Given the description of an element on the screen output the (x, y) to click on. 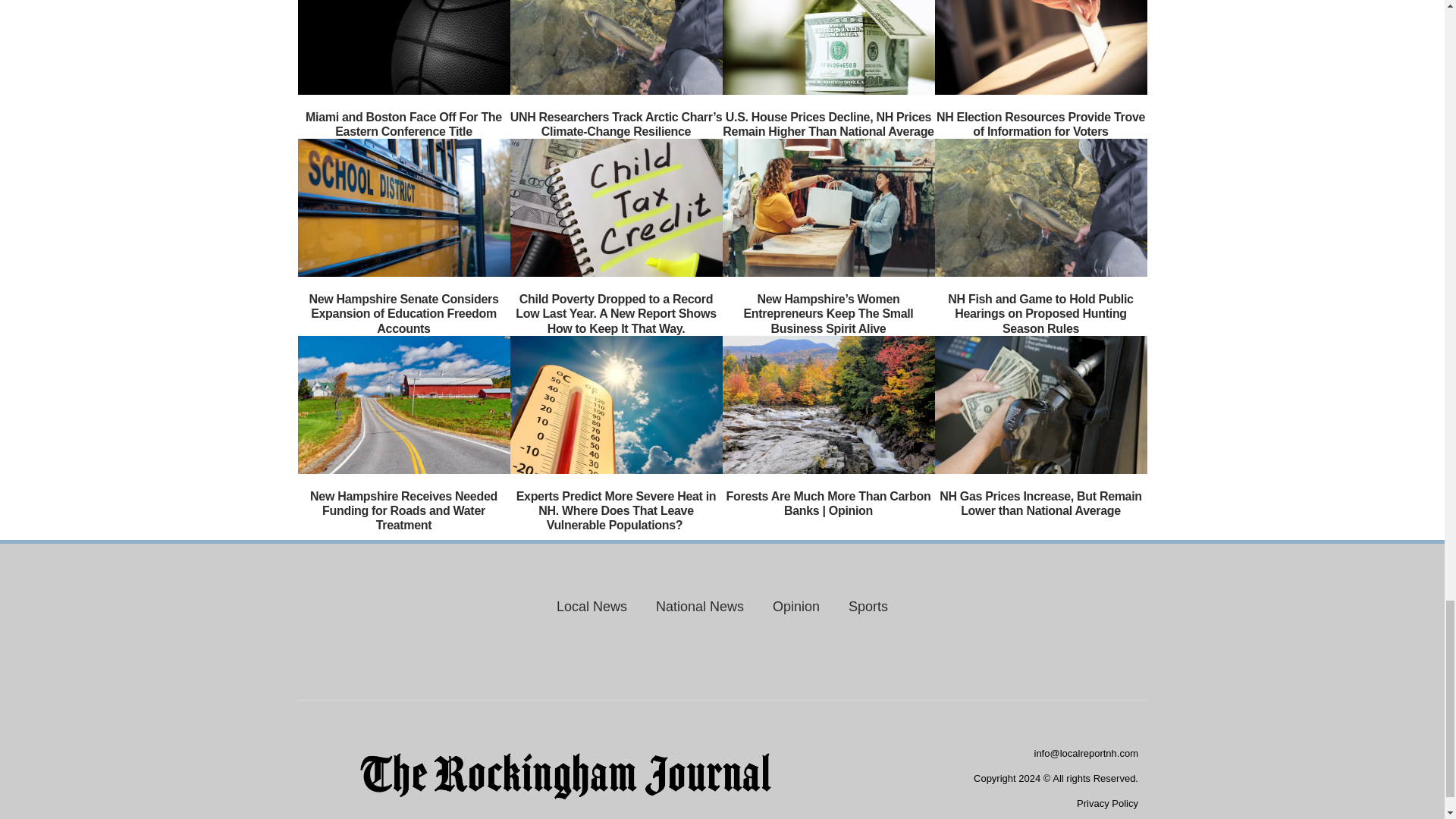
Miami and Boston Face Off For The Eastern Conference Title (403, 124)
